Given the description of an element on the screen output the (x, y) to click on. 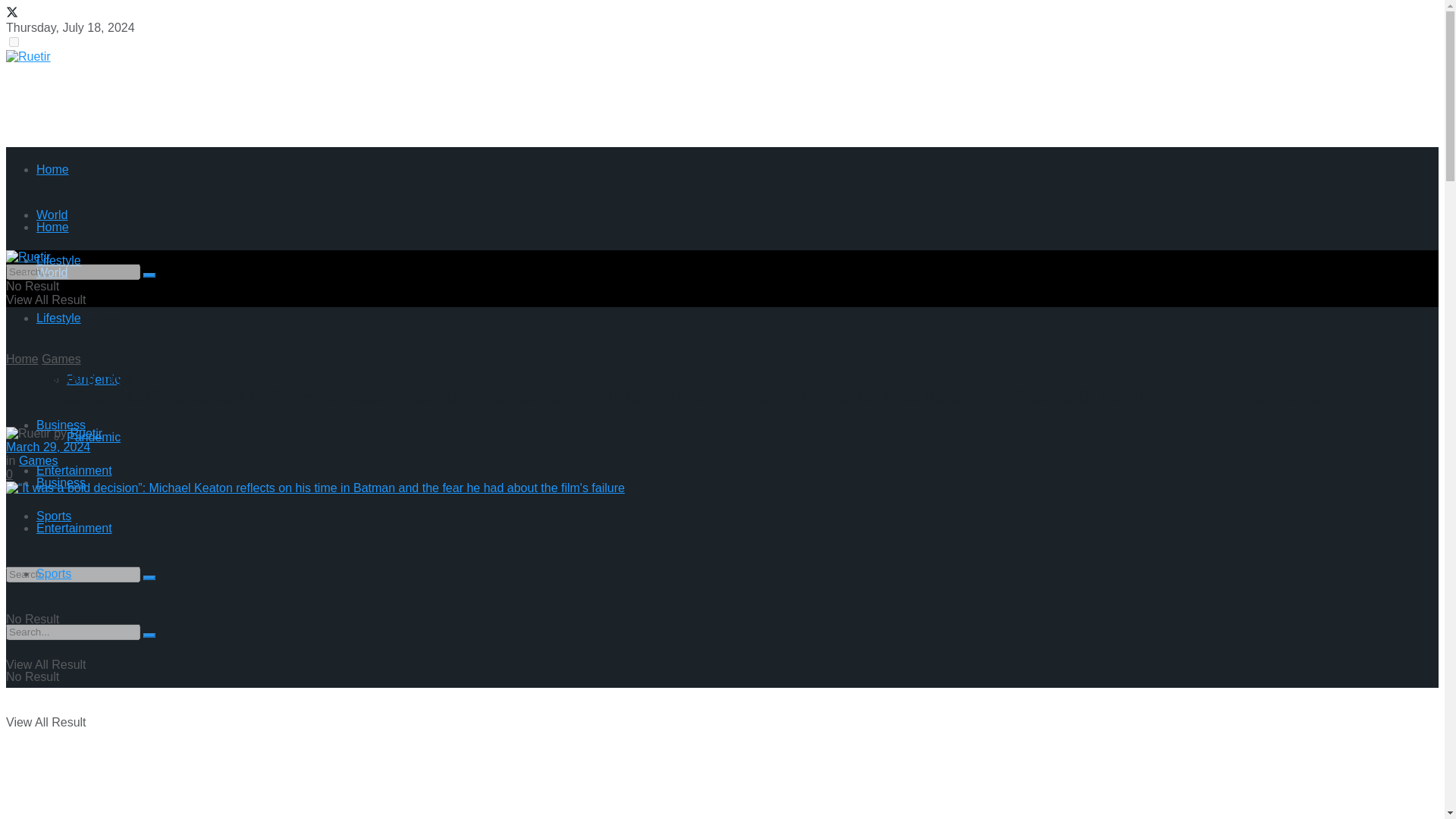
Advertisement (281, 97)
Home (22, 358)
Home (52, 169)
Games (38, 460)
Entertainment (74, 470)
Entertainment (74, 527)
Sports (53, 573)
Lifestyle (58, 259)
Pandemic (93, 379)
on (13, 41)
Sports (53, 515)
Pandemic (93, 436)
March 29, 2024 (47, 446)
Lifestyle (58, 318)
Business (60, 481)
